Given the description of an element on the screen output the (x, y) to click on. 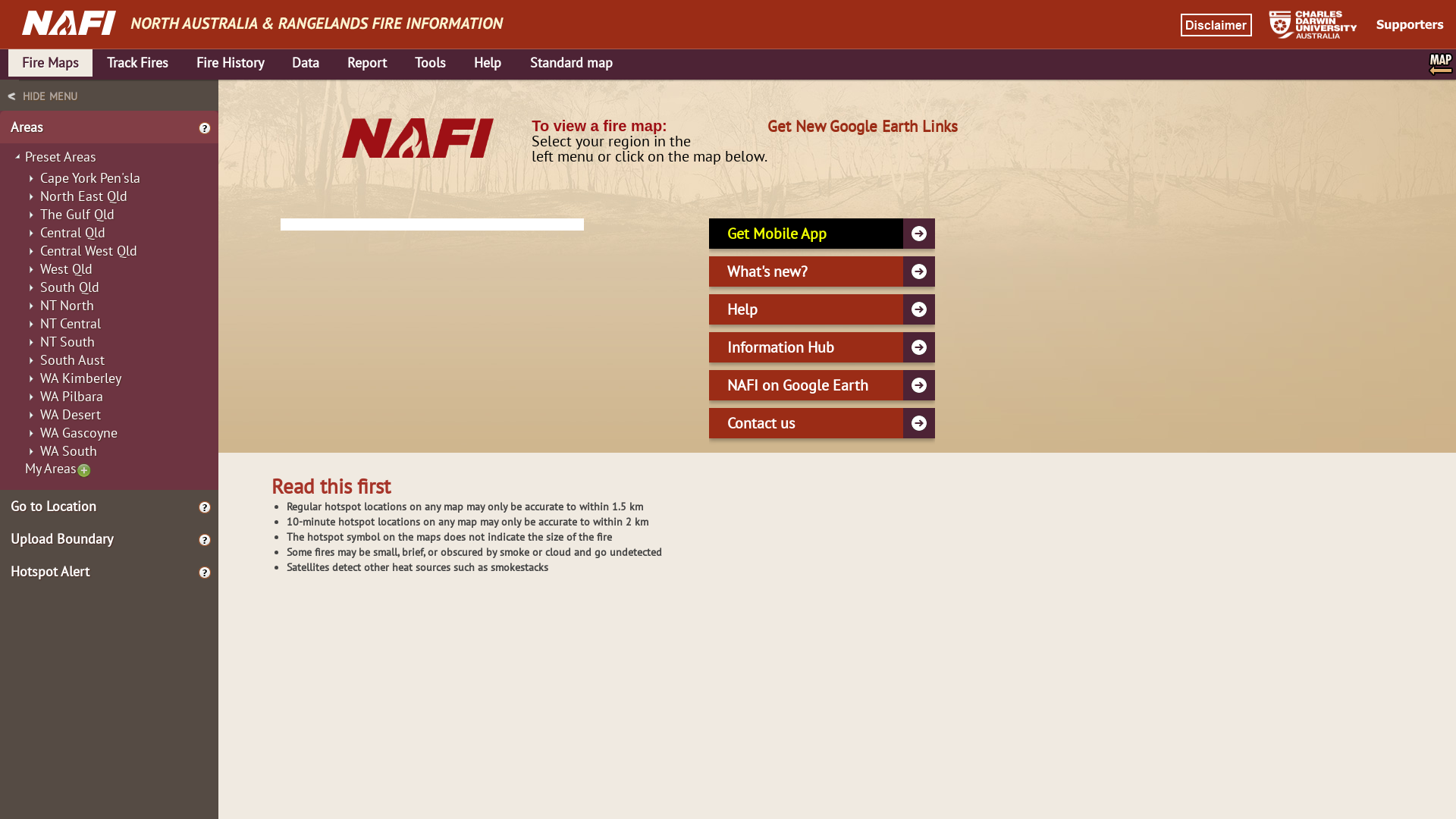
Help Element type: text (487, 62)
Central Qld Element type: text (72, 228)
Hotspot Alert Element type: text (110, 571)
WA South Element type: text (68, 446)
North East Qld Element type: text (83, 191)
NAFI on Google Earth Element type: text (822, 385)
Cape York Pen'sla Element type: text (89, 173)
Central West Qld Element type: text (88, 246)
Standard map Element type: text (571, 62)
Data Element type: text (305, 62)
WA Kimberley Element type: text (80, 373)
NT Central Element type: text (70, 319)
Get New Google Earth Links Element type: text (862, 126)
Fire Maps Element type: text (50, 62)
NT South Element type: text (67, 337)
South Aust Element type: text (72, 355)
West Qld Element type: text (66, 264)
NT North Element type: text (66, 300)
Report Element type: text (366, 62)
Get Mobile App Element type: text (822, 233)
Upload Boundary Element type: text (110, 538)
Tools Element type: text (430, 62)
WA Desert Element type: text (70, 410)
Areas Element type: text (110, 126)
Go to Location Element type: text (110, 505)
The Gulf Qld Element type: text (77, 209)
WA Pilbara Element type: text (71, 391)
What's new? Element type: text (822, 271)
WA Gascoyne Element type: text (78, 428)
Contact us Element type: text (822, 422)
Fire History Element type: text (229, 62)
Help Element type: text (822, 309)
South Qld Element type: text (69, 282)
Track Fires Element type: text (137, 62)
Information Hub Element type: text (822, 347)
